Given the description of an element on the screen output the (x, y) to click on. 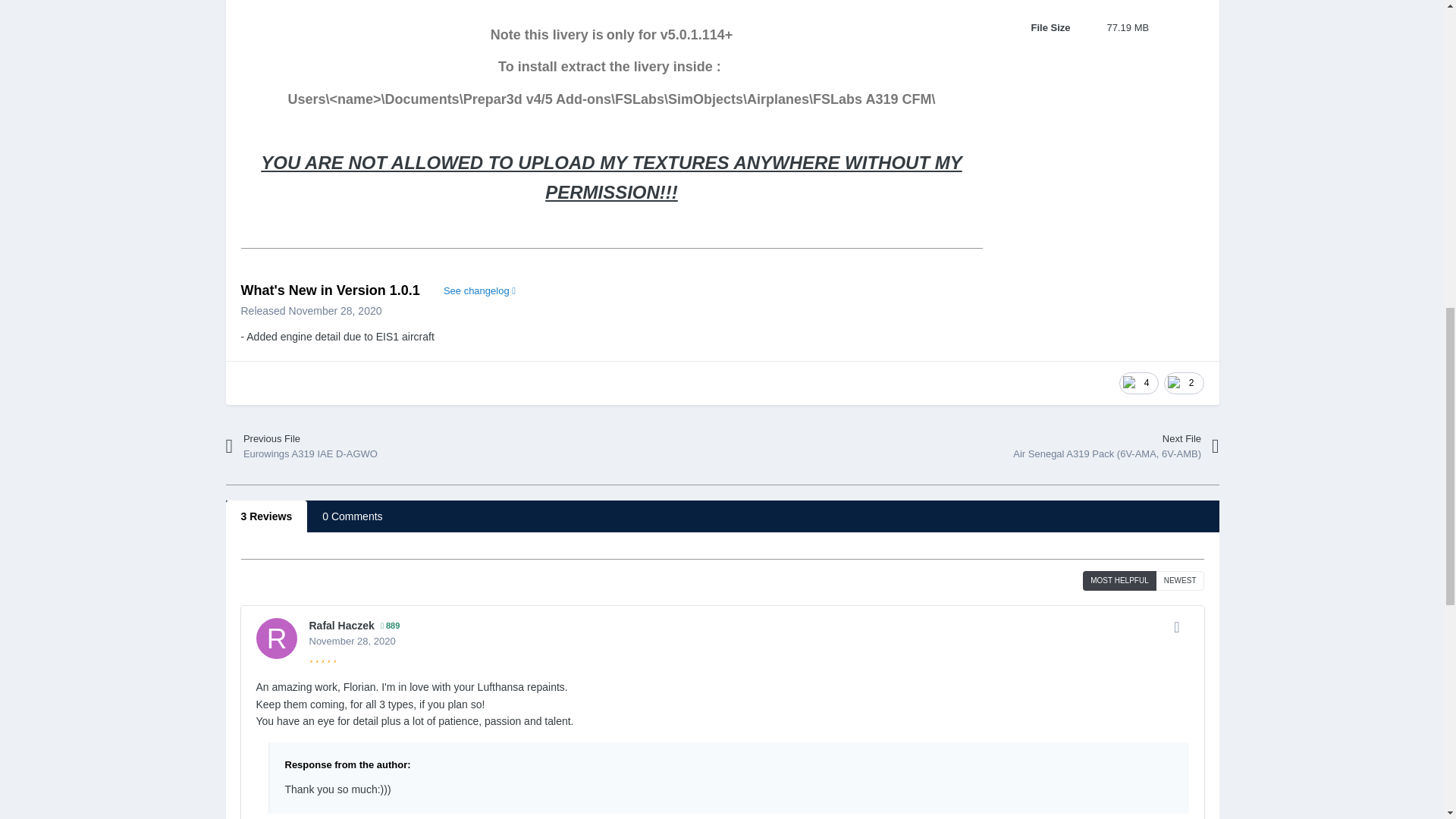
See the version history for this file (478, 291)
Next File (1086, 446)
3 Reviews (266, 516)
Previous File (358, 446)
Like (1138, 382)
Thanks (1183, 382)
